Given the description of an element on the screen output the (x, y) to click on. 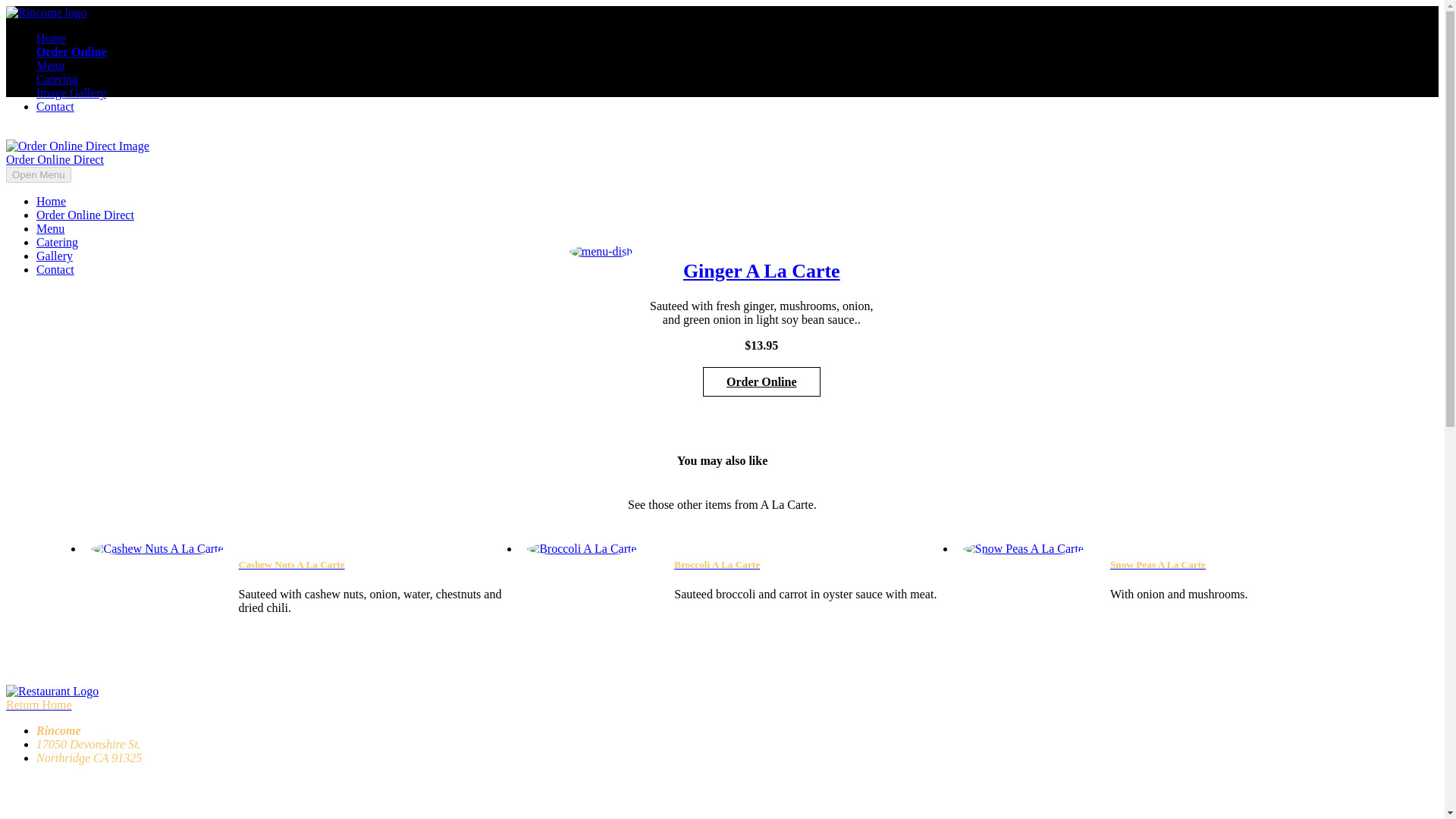
Order Online (71, 51)
Menu (50, 65)
Order Online Direct (84, 214)
Image Gallery (71, 92)
Cashew Nuts A La Carte (291, 564)
Catering (57, 241)
Return Home (52, 697)
Catering (57, 78)
Home (50, 201)
Gallery (54, 255)
